Given the description of an element on the screen output the (x, y) to click on. 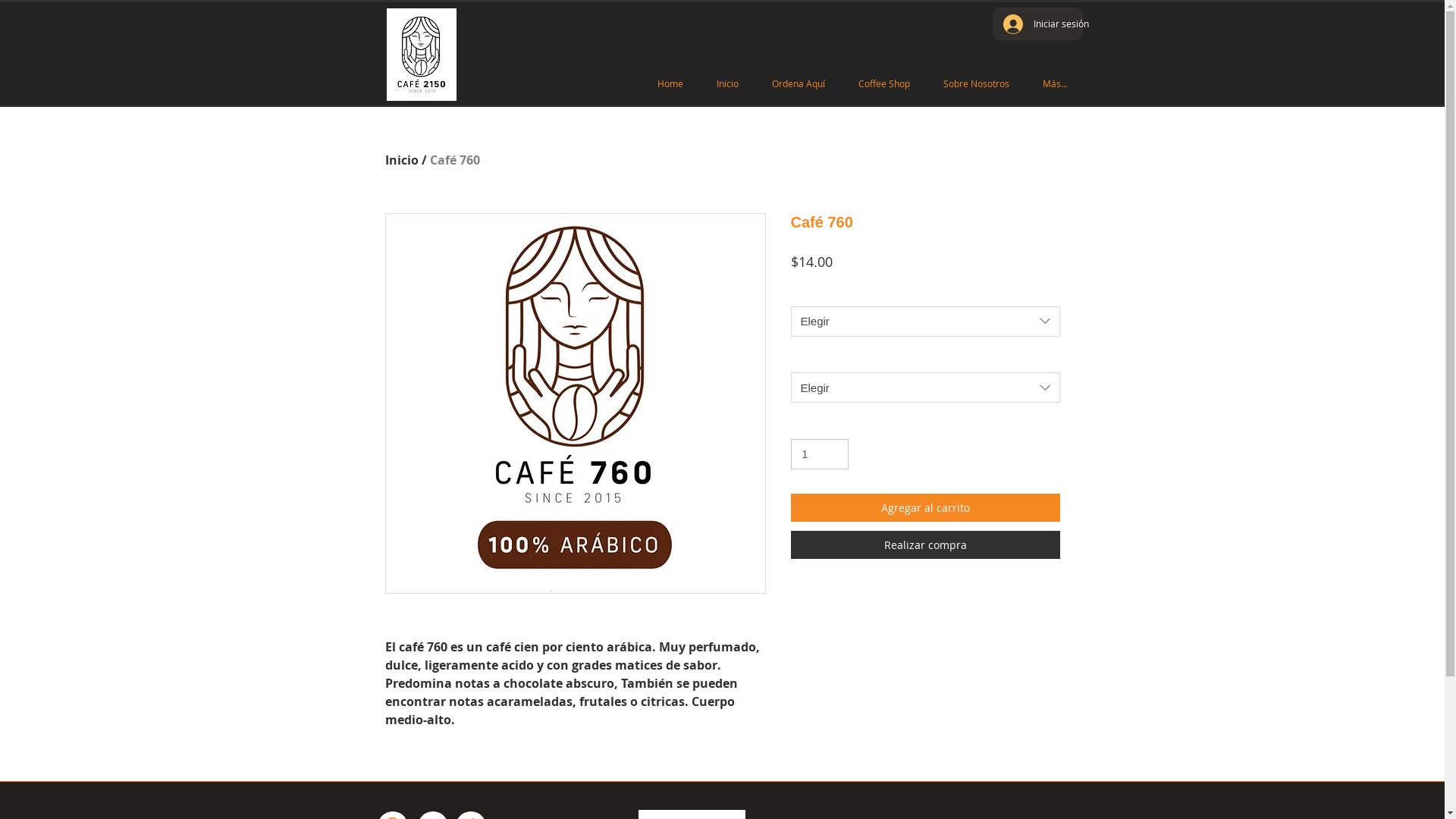
Inicio Element type: text (726, 83)
Agregar al carrito Element type: text (924, 507)
Home Element type: text (402, 159)
Sobre Nosotros Element type: text (976, 83)
Realizar compra Element type: text (924, 544)
Coffee Shop Element type: text (883, 83)
Elegir Element type: text (924, 321)
Home Element type: text (670, 83)
Elegir Element type: text (924, 387)
